Given the description of an element on the screen output the (x, y) to click on. 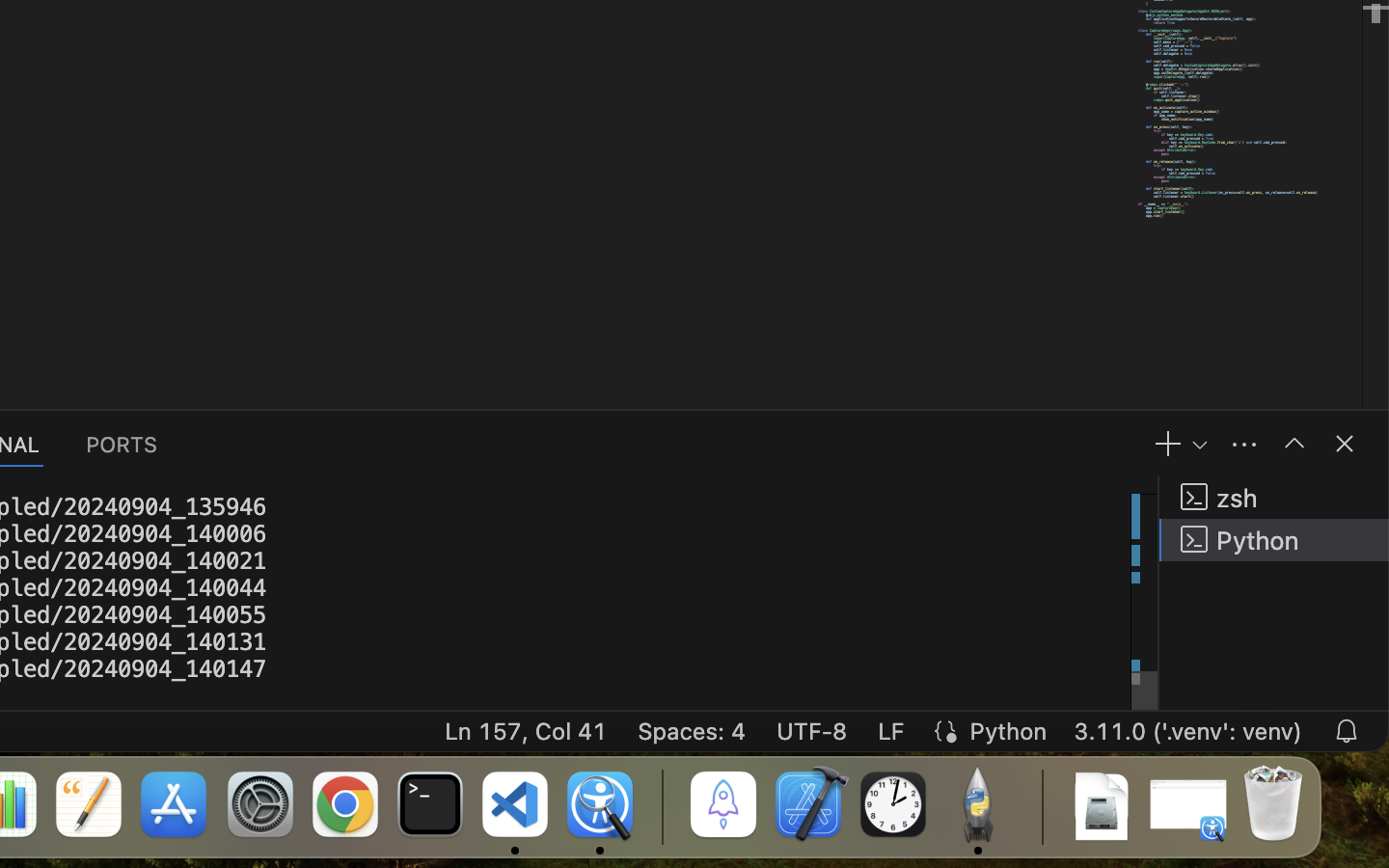
0 PORTS Element type: AXRadioButton (122, 443)
0.4285714328289032 Element type: AXDockItem (660, 805)
Python  Element type: AXGroup (1274, 539)
zsh  Element type: AXGroup (1274, 497)
 Element type: AXCheckBox (1294, 443)
